Given the description of an element on the screen output the (x, y) to click on. 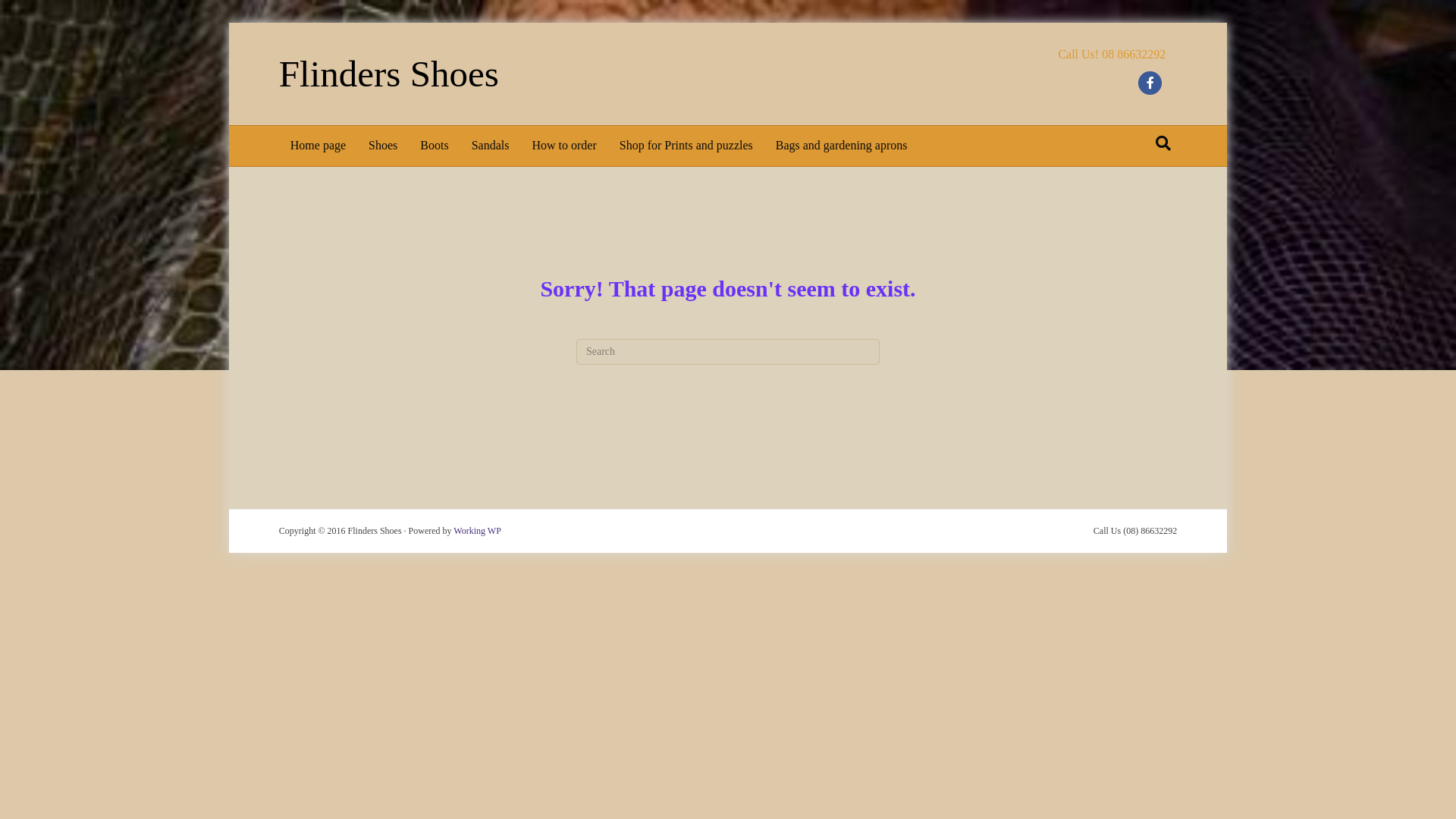
Home page Element type: text (318, 145)
How to order Element type: text (563, 145)
Sandals Element type: text (490, 145)
Working WP Element type: text (476, 530)
Facebook Element type: text (1150, 82)
Shop for Prints and puzzles Element type: text (686, 145)
Type and press Enter to search. Element type: hover (727, 351)
Bags and gardening aprons Element type: text (841, 145)
Shoes Element type: text (382, 145)
Boots Element type: text (433, 145)
Flinders Shoes Element type: text (492, 73)
